Given the description of an element on the screen output the (x, y) to click on. 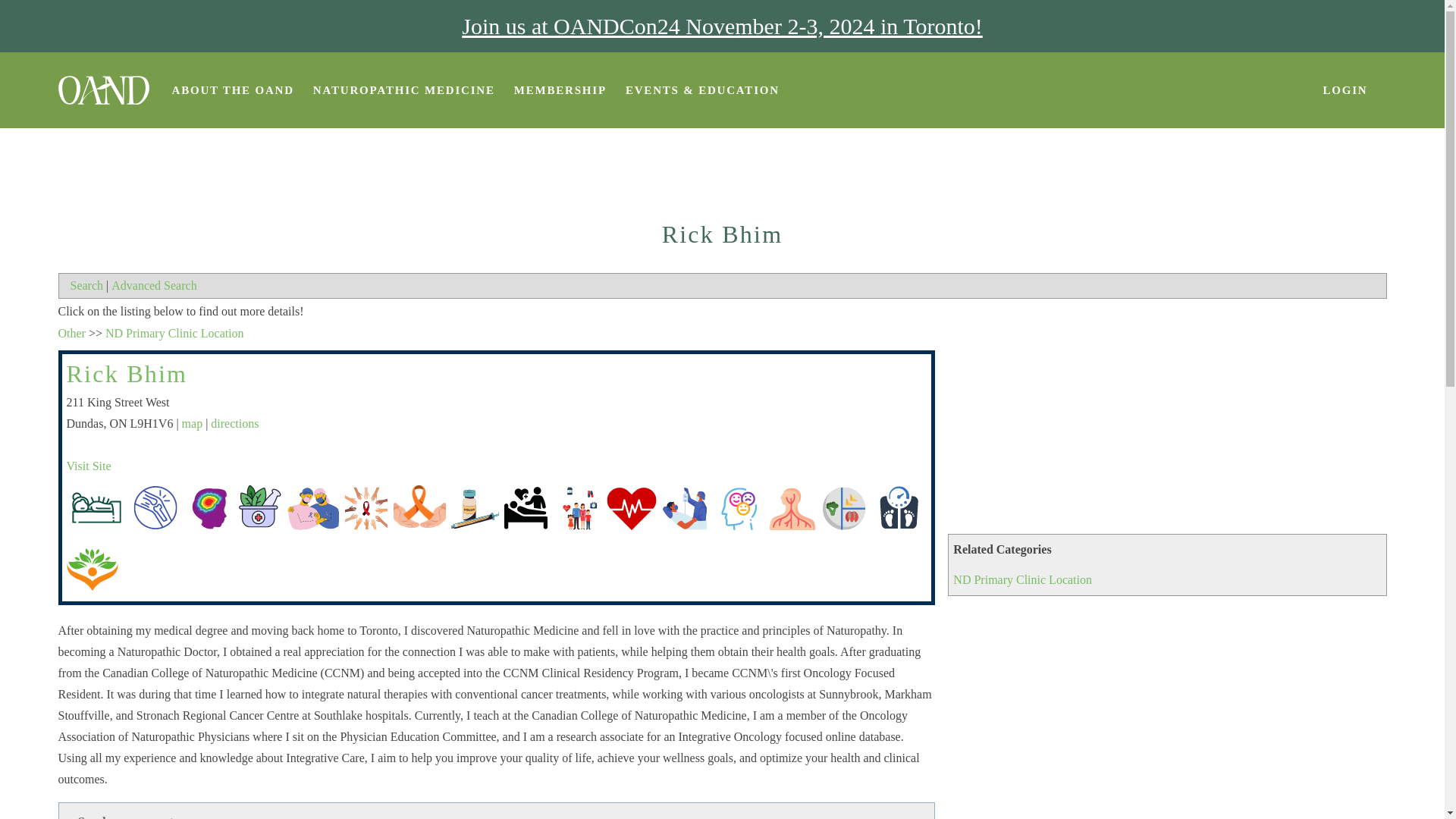
General Naturopathic Care (578, 502)
Nervous System (790, 502)
Complimentary Care for HIV Patients (366, 502)
Diabetes (472, 502)
Weight Management (896, 502)
Botanical Medicine (259, 502)
NATUROPATHIC MEDICINE (404, 90)
MEMBERSHIP (560, 90)
Complimentary Care for MS Patients (419, 502)
ABOUT THE OAND (232, 90)
Autism (206, 502)
IV Therapy (684, 502)
Heart Health (631, 502)
Acupuncture (97, 506)
Join us at OANDCon24 November 2-3, 2024 in Toronto! (721, 25)
